Given the description of an element on the screen output the (x, y) to click on. 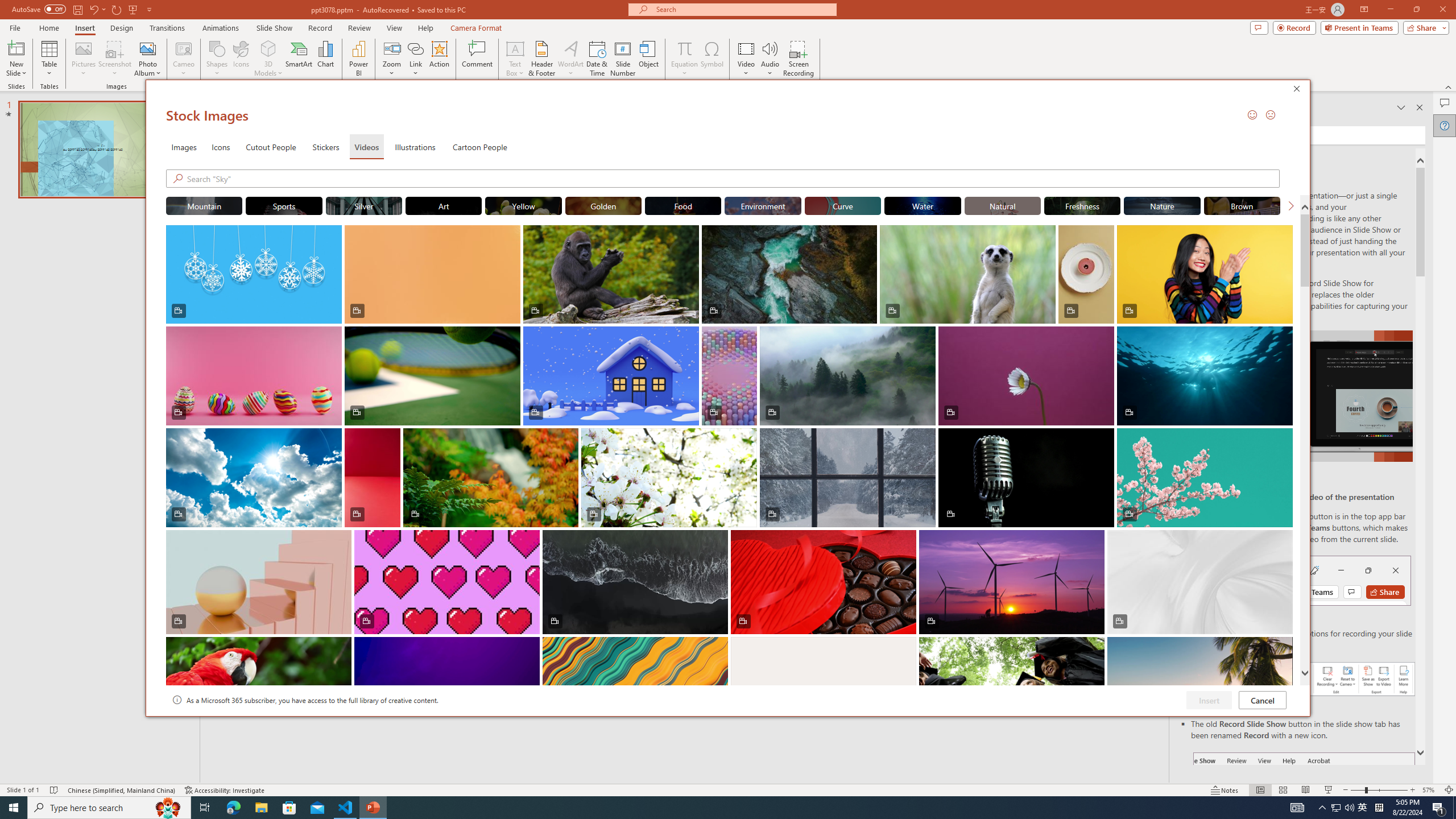
Icons (240, 58)
3D Models (268, 48)
Next Search Suggestion (1290, 205)
